Given the description of an element on the screen output the (x, y) to click on. 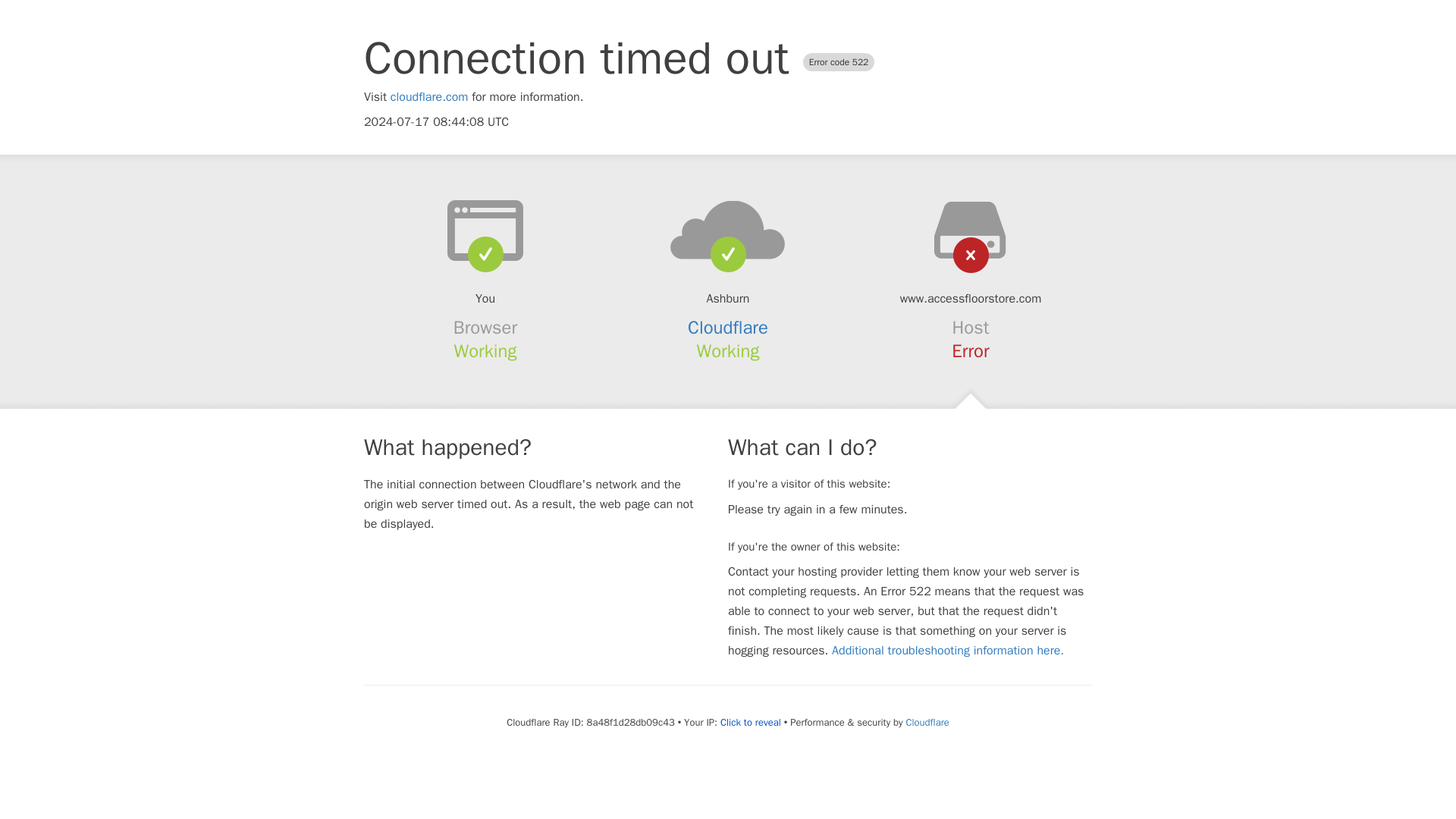
Additional troubleshooting information here. (947, 650)
Click to reveal (750, 722)
Cloudflare (727, 327)
cloudflare.com (429, 96)
Cloudflare (927, 721)
